Given the description of an element on the screen output the (x, y) to click on. 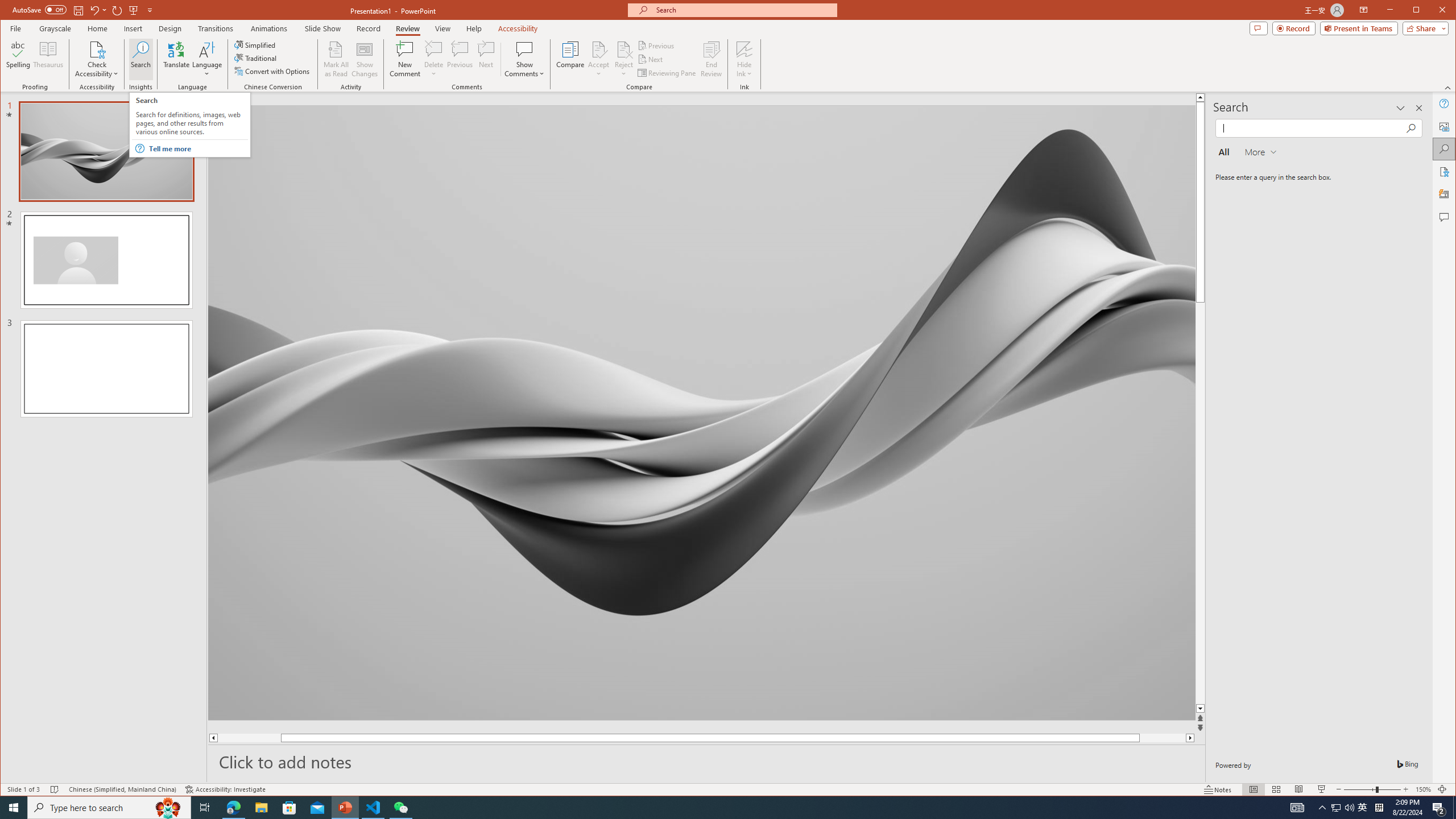
Running applications (707, 807)
Traditional (256, 57)
Delete (433, 59)
Spelling... (18, 59)
User Promoted Notification Area (1342, 807)
Hide Ink (744, 59)
